Given the description of an element on the screen output the (x, y) to click on. 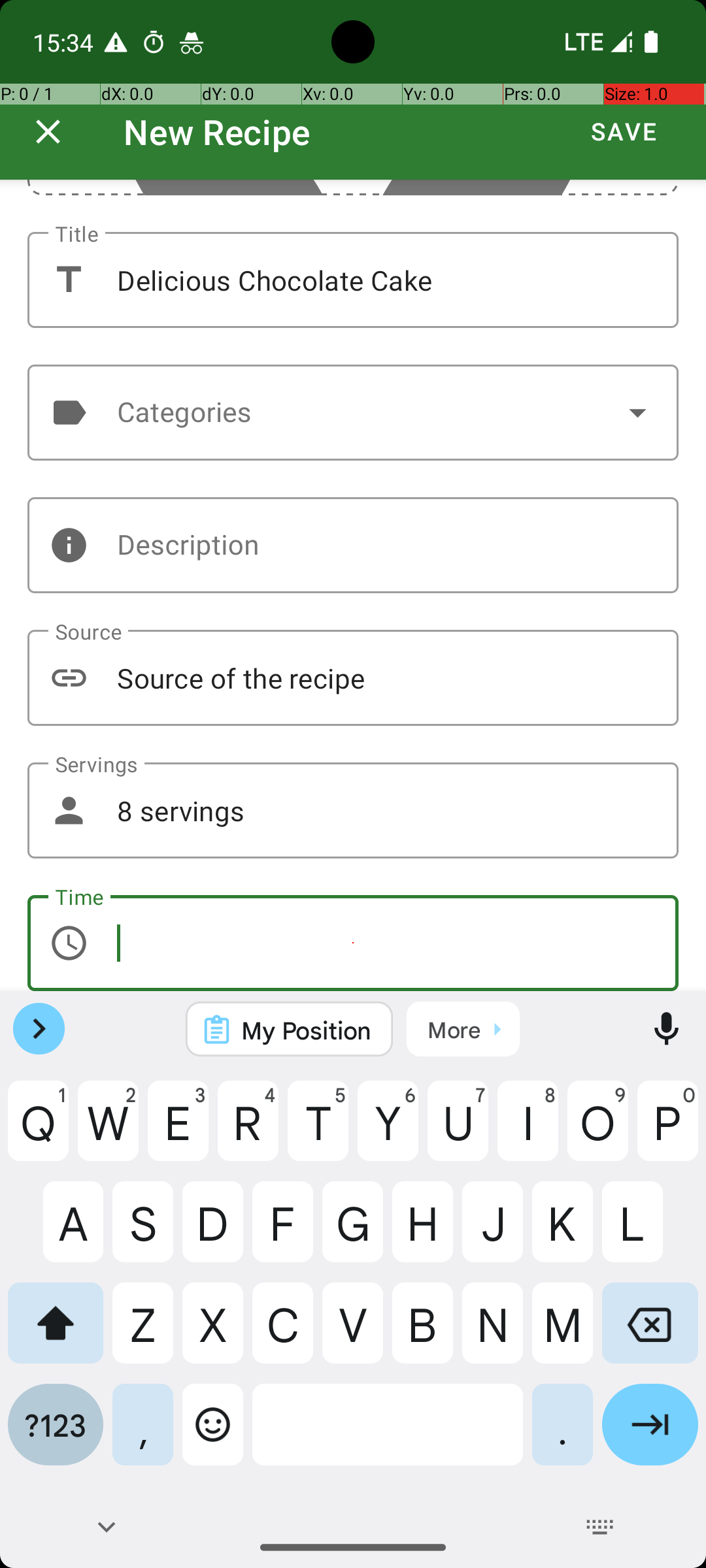
Delicious Chocolate Cake Element type: android.widget.EditText (352, 279)
Source of the recipe Element type: android.widget.EditText (352, 677)
